Given the description of an element on the screen output the (x, y) to click on. 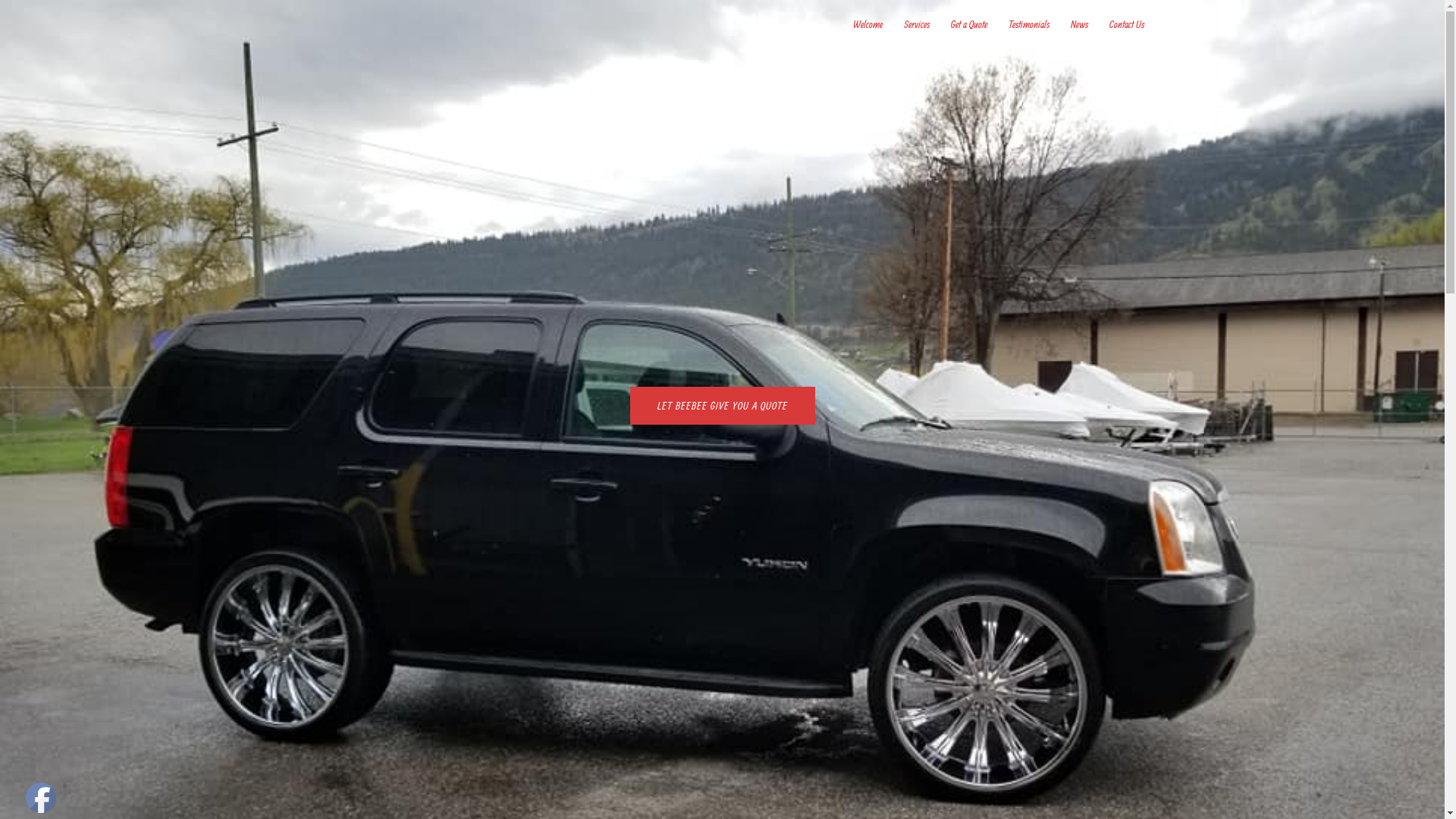
News Element type: text (1079, 24)
Testimonials Element type: text (1028, 24)
Services Element type: text (916, 24)
Welcome Element type: text (866, 24)
Facebook Element type: hover (40, 797)
Get a Quote Element type: text (968, 24)
LET BEEBEE GIVE YOU A QUOTE Element type: text (721, 405)
Contact Us Element type: text (1125, 24)
